Given the description of an element on the screen output the (x, y) to click on. 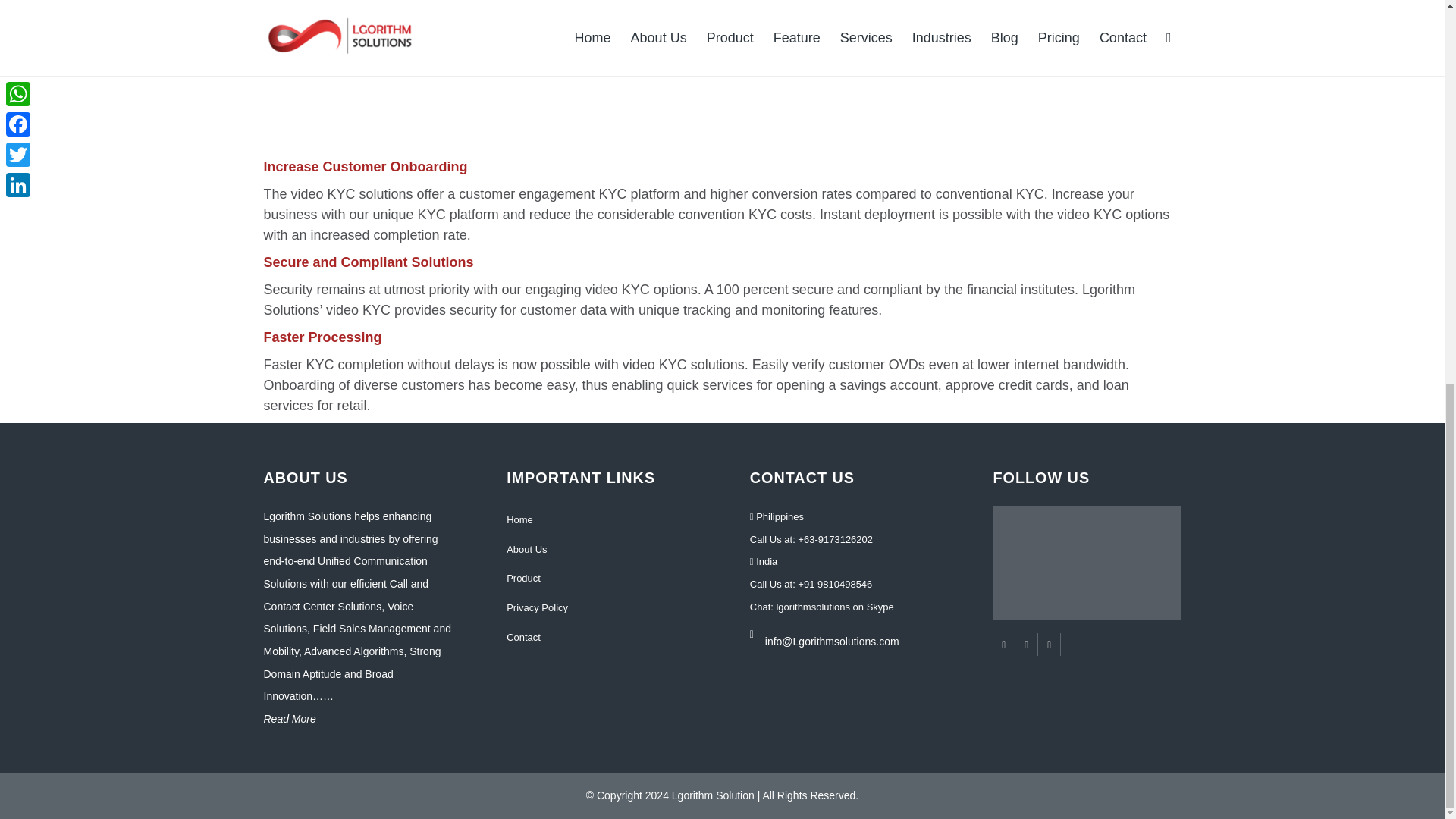
Email Address (851, 630)
Linkedin (1048, 644)
video kyc (479, 44)
Facebook (1003, 644)
Twitter (1025, 644)
